Given the description of an element on the screen output the (x, y) to click on. 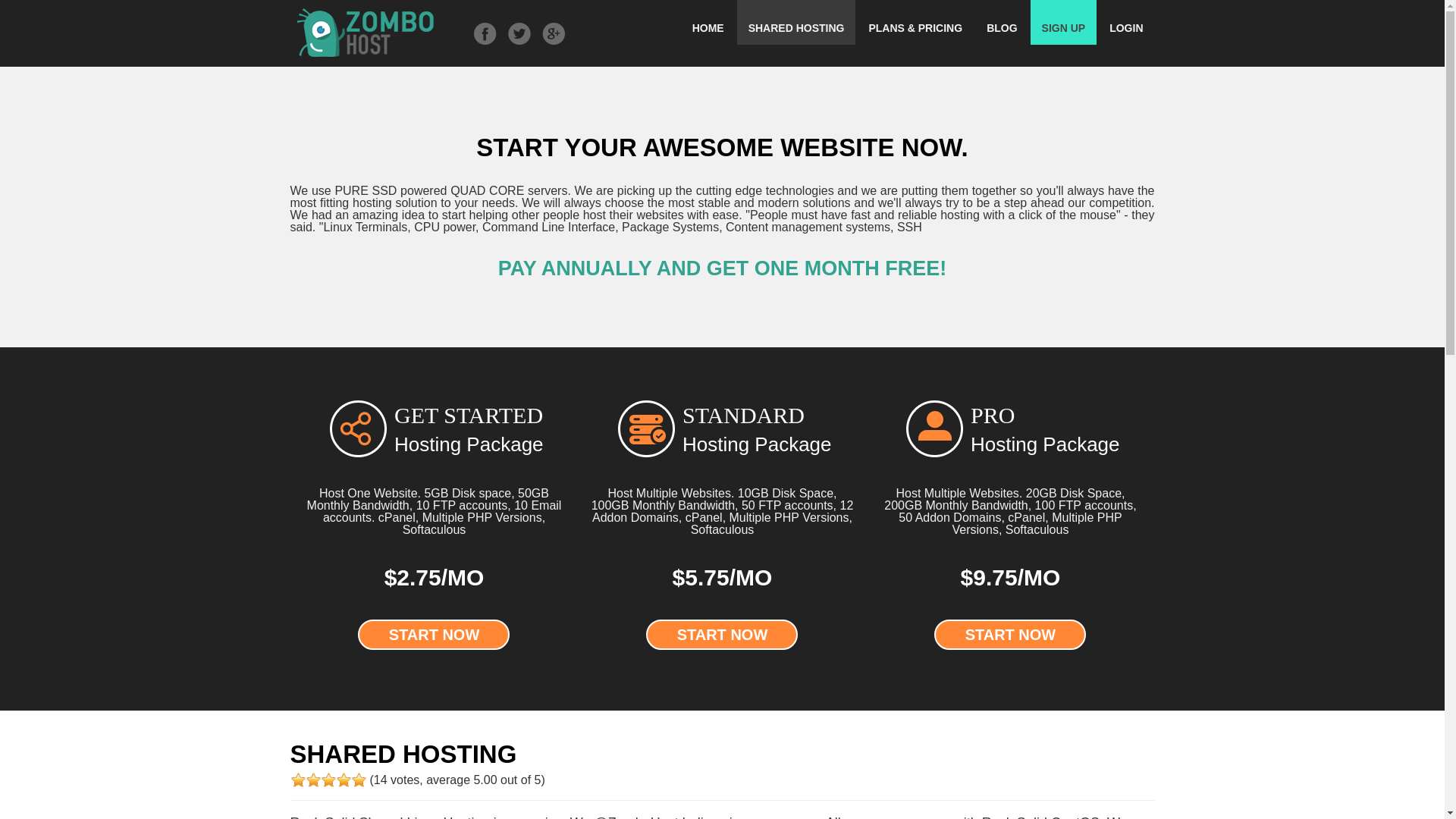
HOME (708, 22)
LOGIN (1125, 22)
start now (1010, 634)
SIGN UP (1063, 22)
3 (311, 779)
1 star out of 5 (296, 779)
Follow us on Twitter (519, 33)
2 (304, 779)
START NOW (721, 634)
4 stars out of 5 (319, 779)
START NOW (433, 634)
5 stars out of 5 (327, 779)
5 (327, 779)
2 stars out of 5 (304, 779)
start now (433, 634)
